Given the description of an element on the screen output the (x, y) to click on. 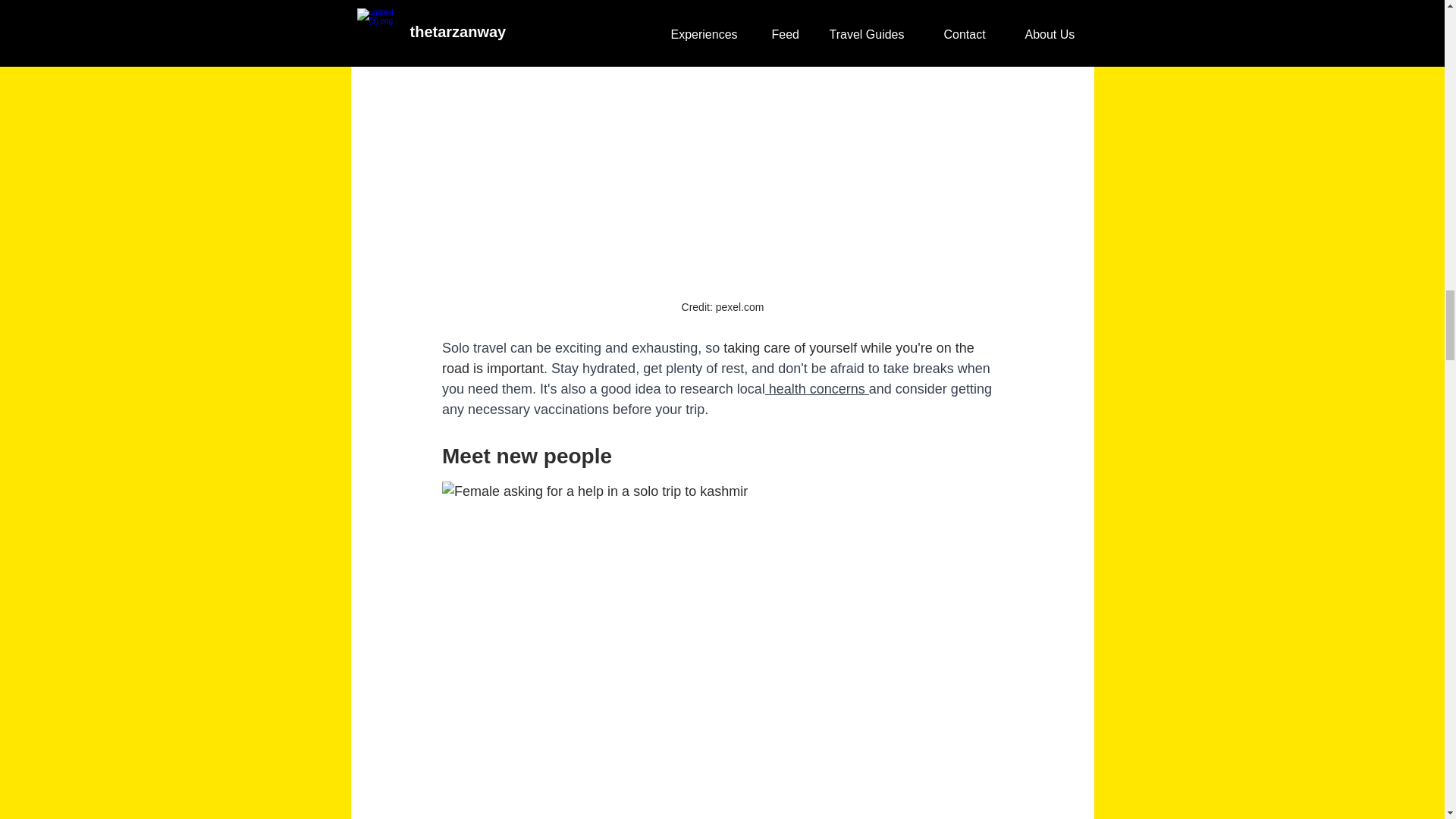
 health concerns  (815, 388)
